Given the description of an element on the screen output the (x, y) to click on. 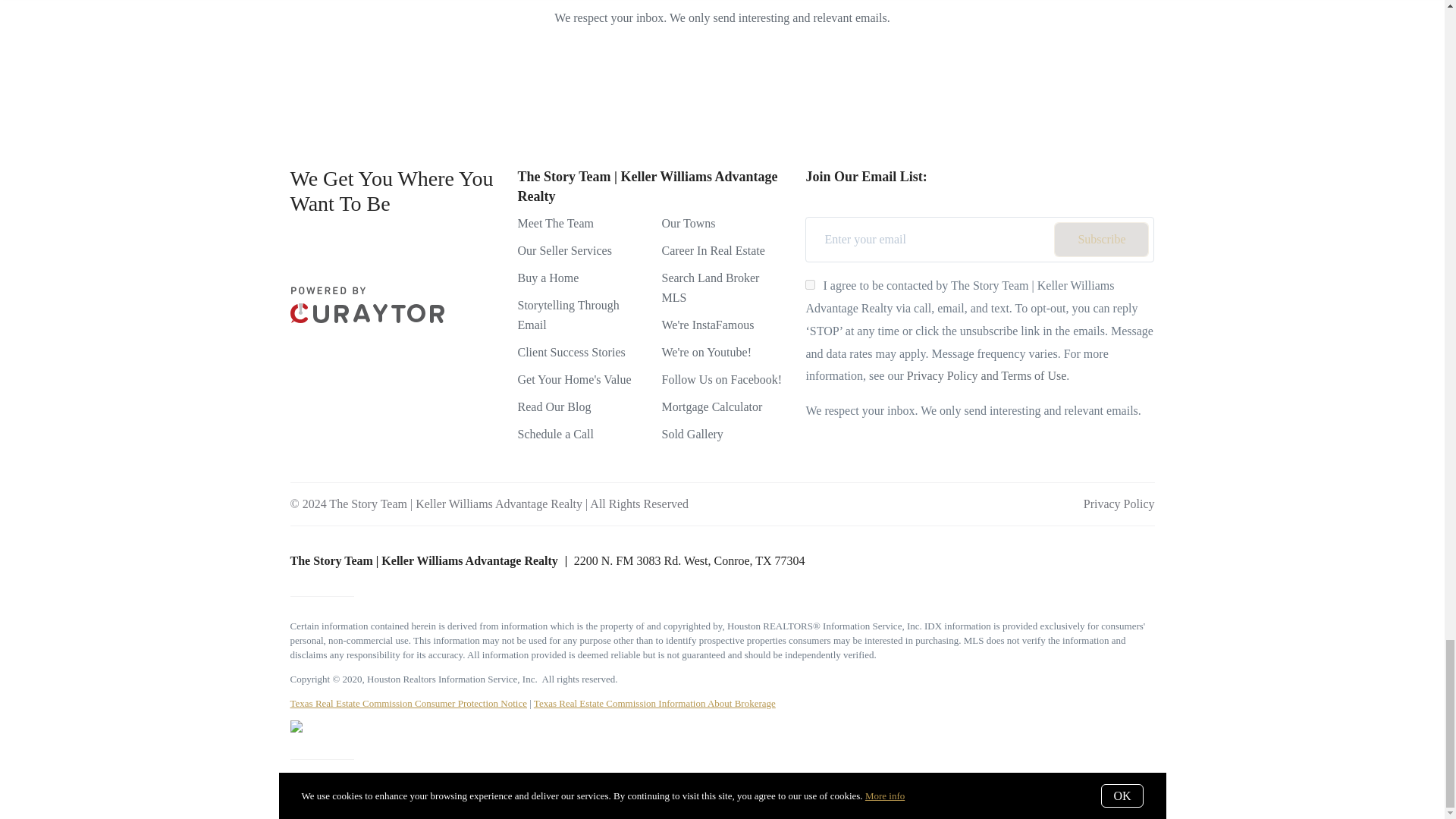
on (810, 284)
curaytor-horizontal (366, 304)
